Given the description of an element on the screen output the (x, y) to click on. 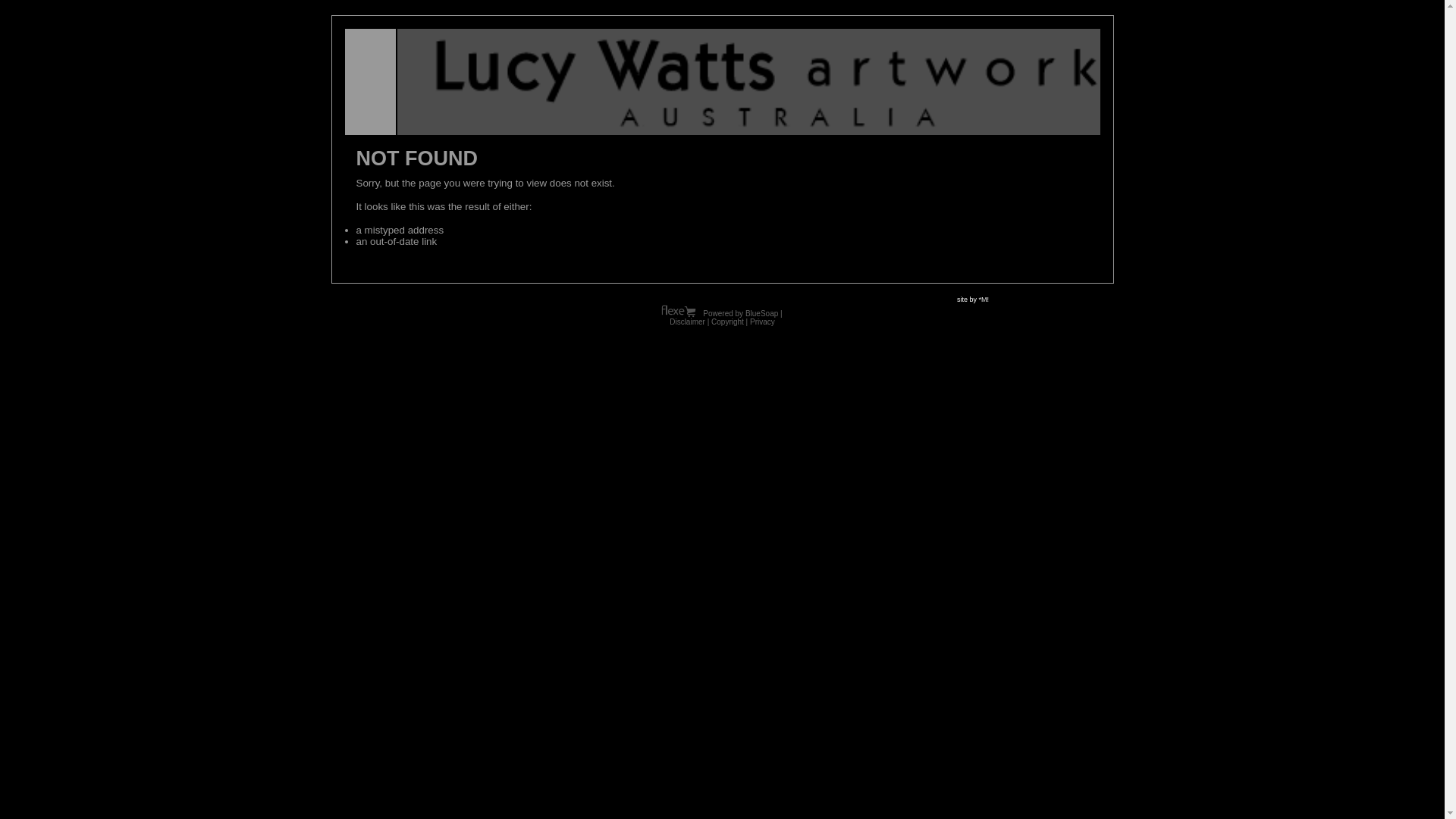
Disclaimer Element type: text (687, 321)
Copyright Element type: text (727, 321)
site by *M! Element type: text (972, 299)
Privacy Element type: text (762, 321)
